Given the description of an element on the screen output the (x, y) to click on. 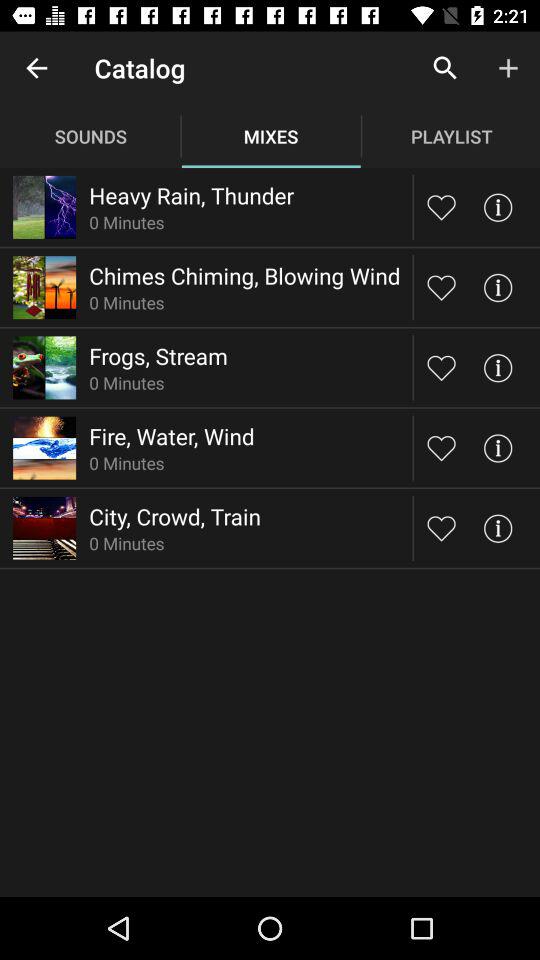
for more info (498, 367)
